Given the description of an element on the screen output the (x, y) to click on. 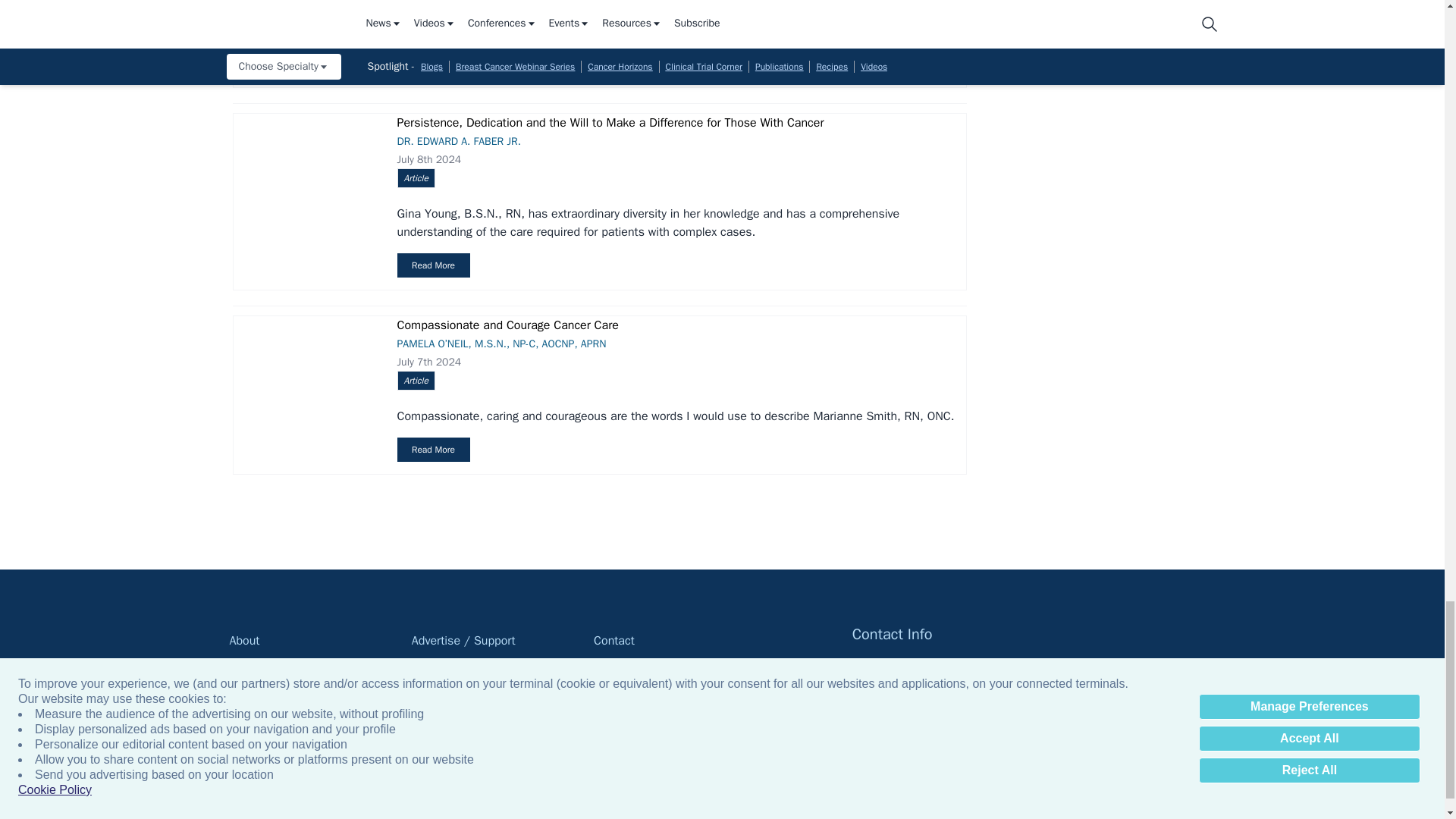
Image of two women sitting on a bench outside. (305, 31)
